Given the description of an element on the screen output the (x, y) to click on. 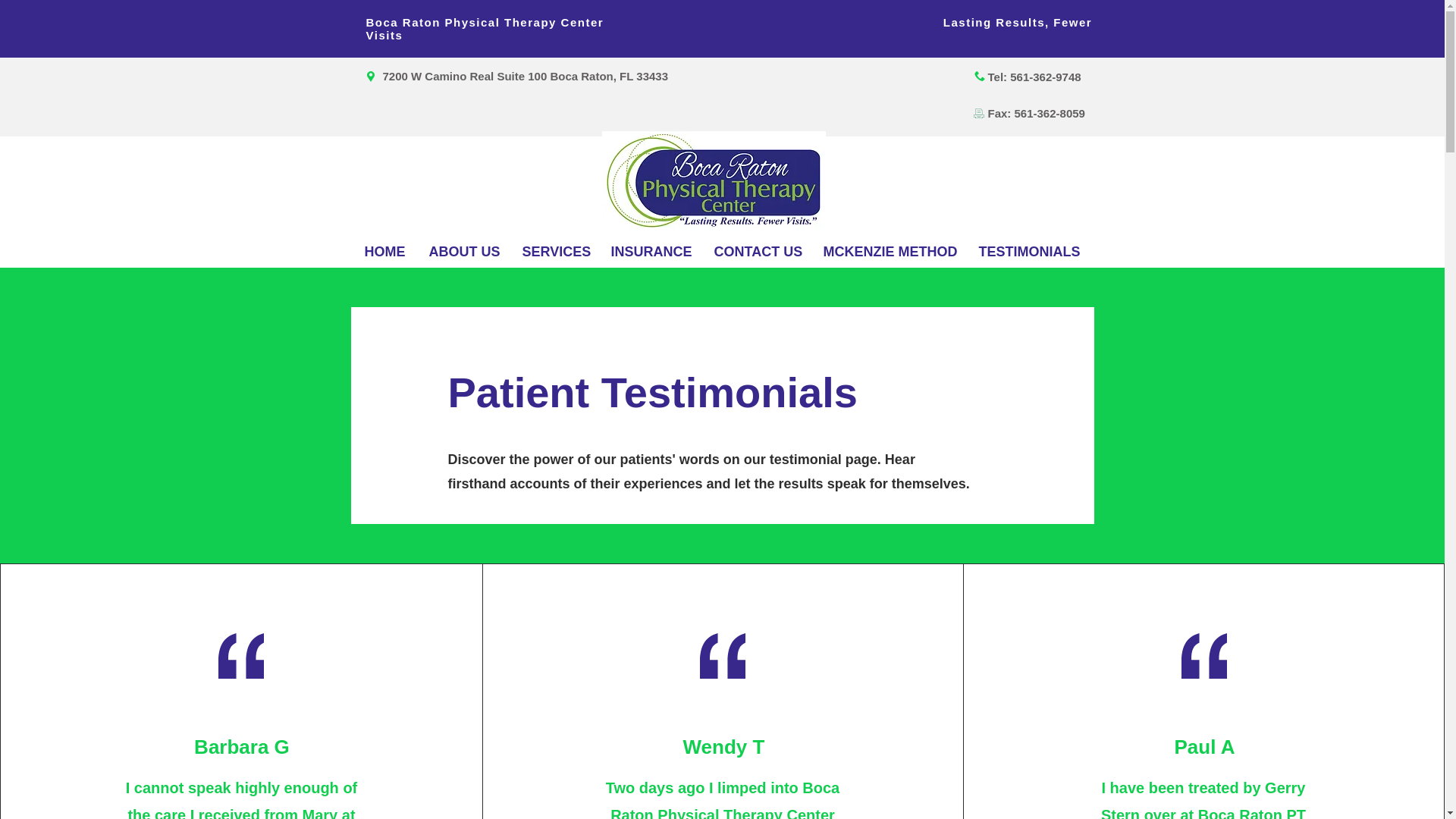
MCKENZIE METHOD (888, 252)
INSURANCE (649, 252)
CONTACT US (755, 252)
HOME (384, 252)
SERVICES (555, 252)
ABOUT US (463, 252)
TESTIMONIALS (1029, 252)
